Given the description of an element on the screen output the (x, y) to click on. 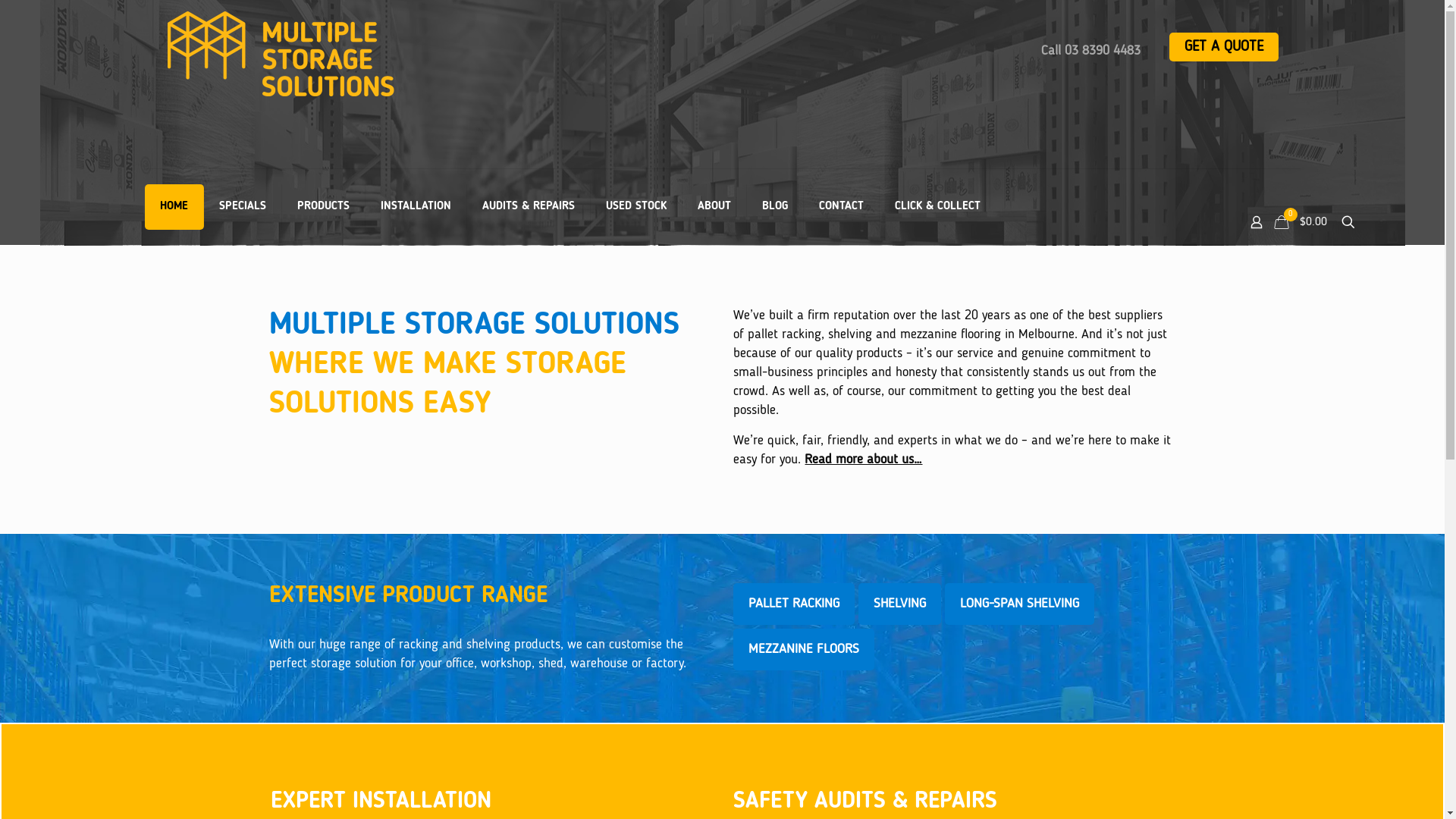
HOME Element type: text (173, 206)
Multiple Storage Solutions Element type: hover (393, 53)
ABOUT Element type: text (714, 206)
SPECIALS Element type: text (242, 206)
CONTACT Element type: text (841, 206)
CLICK & COLLECT Element type: text (937, 206)
PRODUCTS Element type: text (323, 206)
INSTALLATION Element type: text (416, 206)
PALLET RACKING Element type: text (793, 603)
SHELVING Element type: text (899, 603)
USED STOCK Element type: text (635, 206)
LONG-SPAN SHELVING Element type: text (1019, 603)
Call 03 8390 4483 Element type: text (1089, 50)
GET A QUOTE Element type: text (1223, 46)
0
$0.00 Element type: text (1302, 221)
MEZZANINE FLOORS Element type: text (803, 649)
BLOG Element type: text (774, 206)
AUDITS & REPAIRS Element type: text (528, 206)
